Given the description of an element on the screen output the (x, y) to click on. 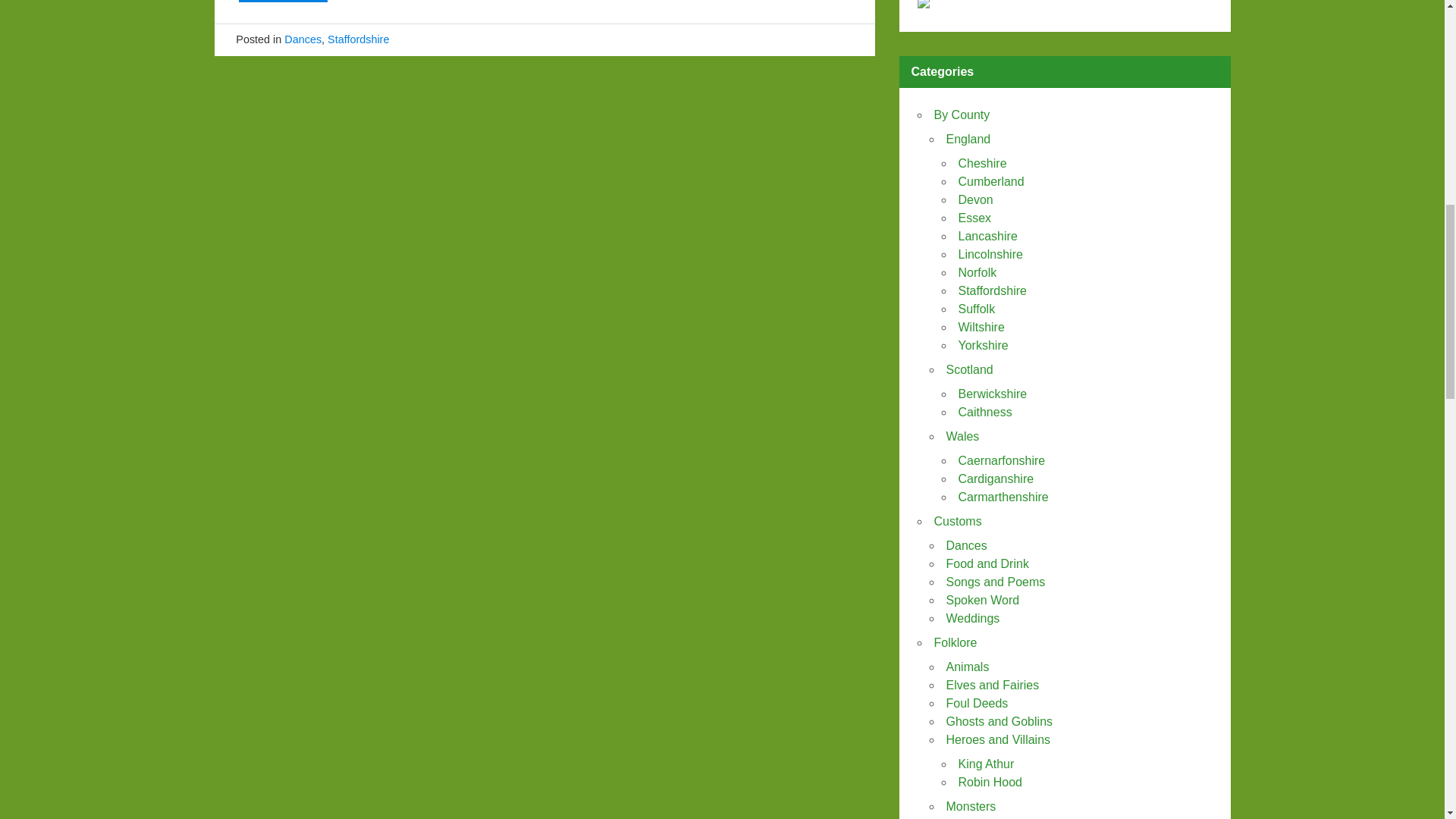
Wales (962, 436)
Essex (974, 217)
Berwickshire (992, 393)
Norfolk (977, 272)
Staffordshire (992, 290)
Lancashire (987, 236)
Cardiganshire (995, 478)
Yorkshire (983, 345)
Staffordshire (357, 39)
Cumberland (991, 181)
Caernarfonshire (1001, 460)
Wiltshire (981, 327)
Cheshire (982, 163)
Dances (302, 39)
Devon (975, 199)
